Given the description of an element on the screen output the (x, y) to click on. 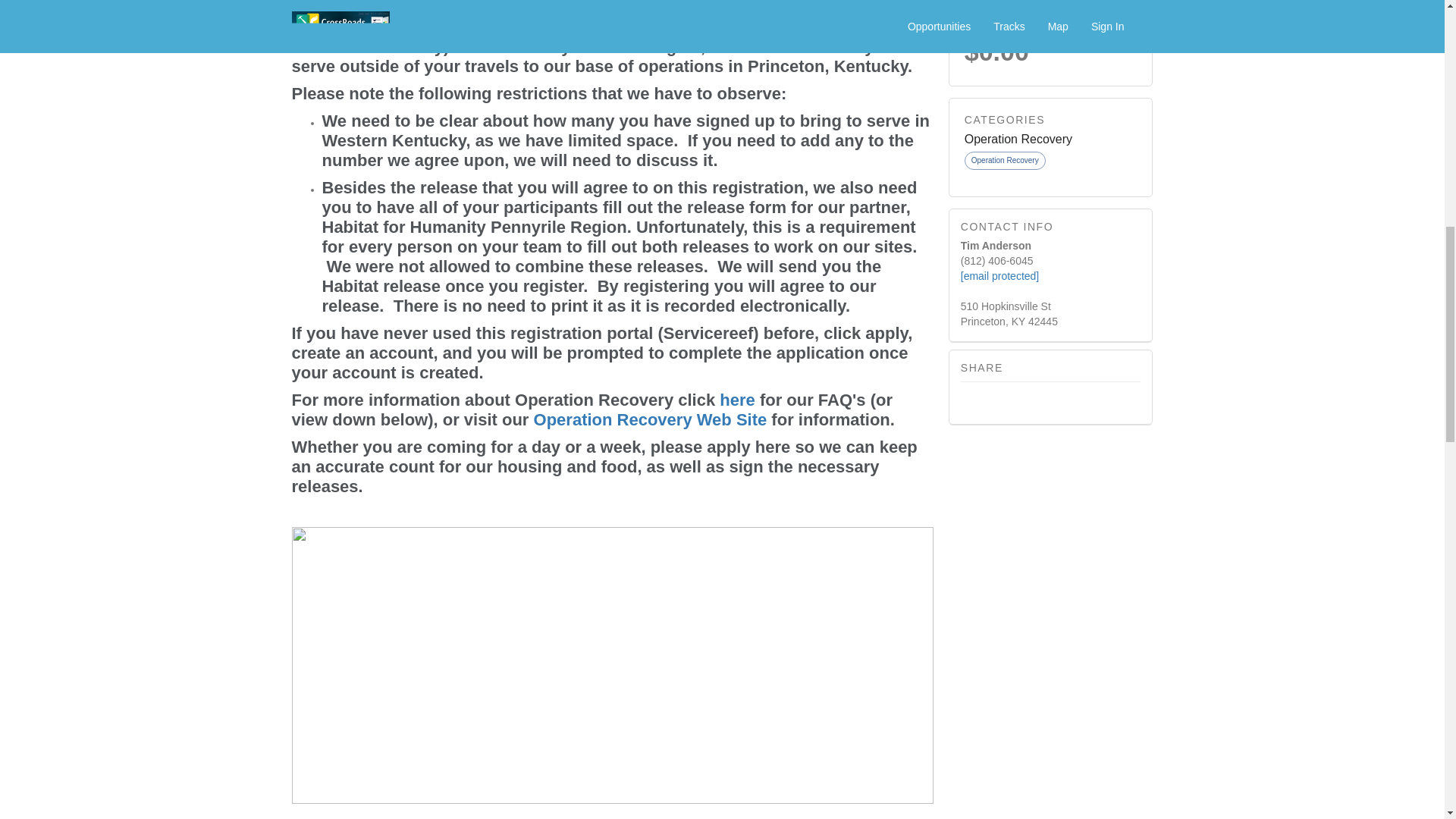
here (736, 399)
Operation Recovery Web Site (650, 419)
